Given the description of an element on the screen output the (x, y) to click on. 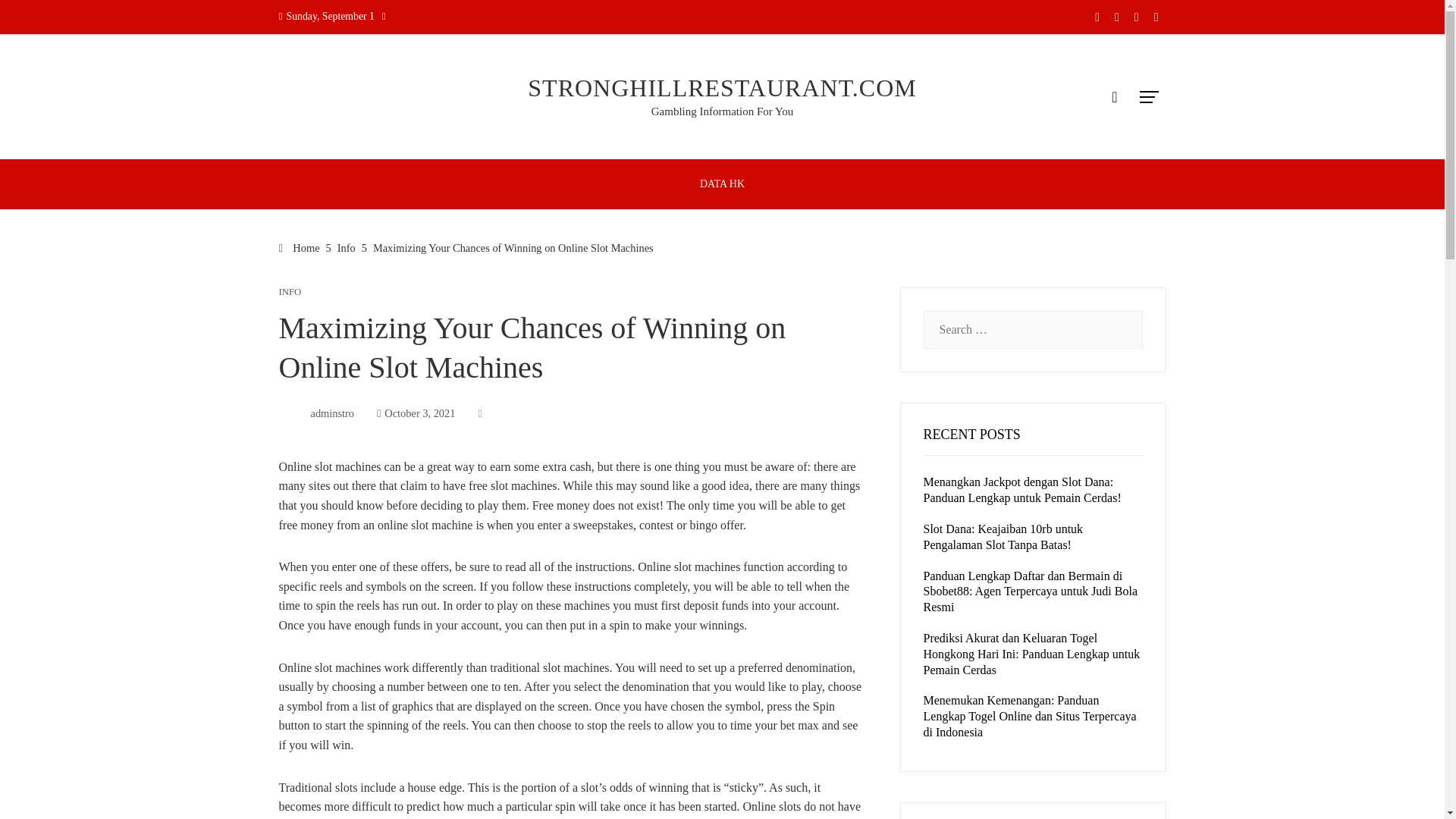
Info (346, 247)
DATA HK (721, 183)
Search (35, 18)
STRONGHILLRESTAURANT.COM (721, 87)
Home (299, 247)
Slot Dana: Keajaiban 10rb untuk Pengalaman Slot Tanpa Batas! (1003, 536)
Gambling Information For You (721, 111)
